Given the description of an element on the screen output the (x, y) to click on. 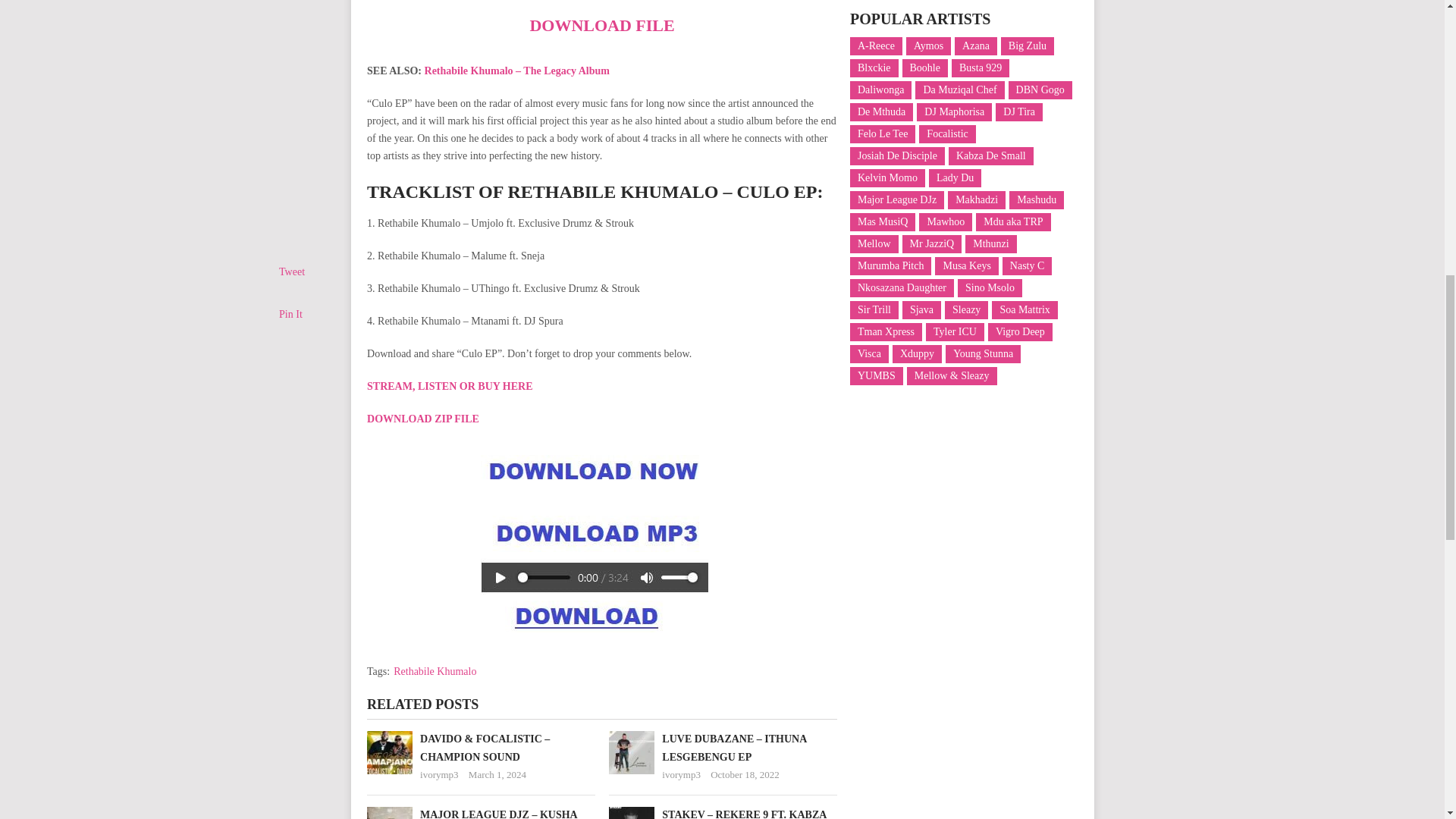
Rethabile Khumalo - Culo EP (593, 537)
DOWNLOAD ZIP FILE (422, 419)
STREAM, LISTEN OR BUY HERE (449, 386)
ivorymp3 (439, 774)
Rethabile Khumalo (434, 671)
DOWNLOAD FILE (601, 25)
